Given the description of an element on the screen output the (x, y) to click on. 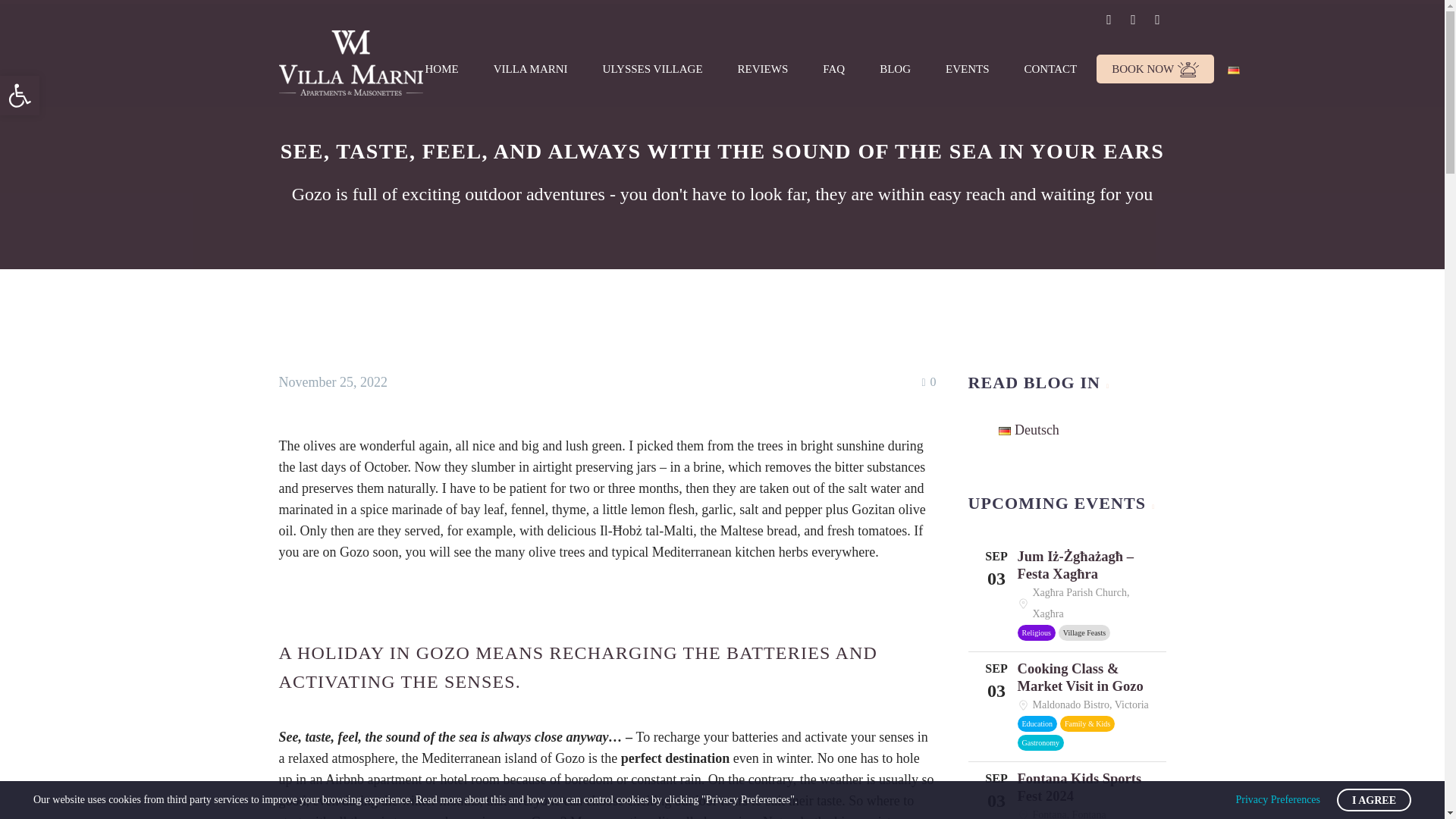
BLOG (895, 68)
HOME (441, 68)
ULYSSES VILLAGE (652, 68)
WhatsApp (1156, 19)
Instagram (1132, 19)
CONTACT (19, 95)
Accessibility Tools (1050, 68)
EVENTS (19, 95)
Facebook (967, 68)
